Given the description of an element on the screen output the (x, y) to click on. 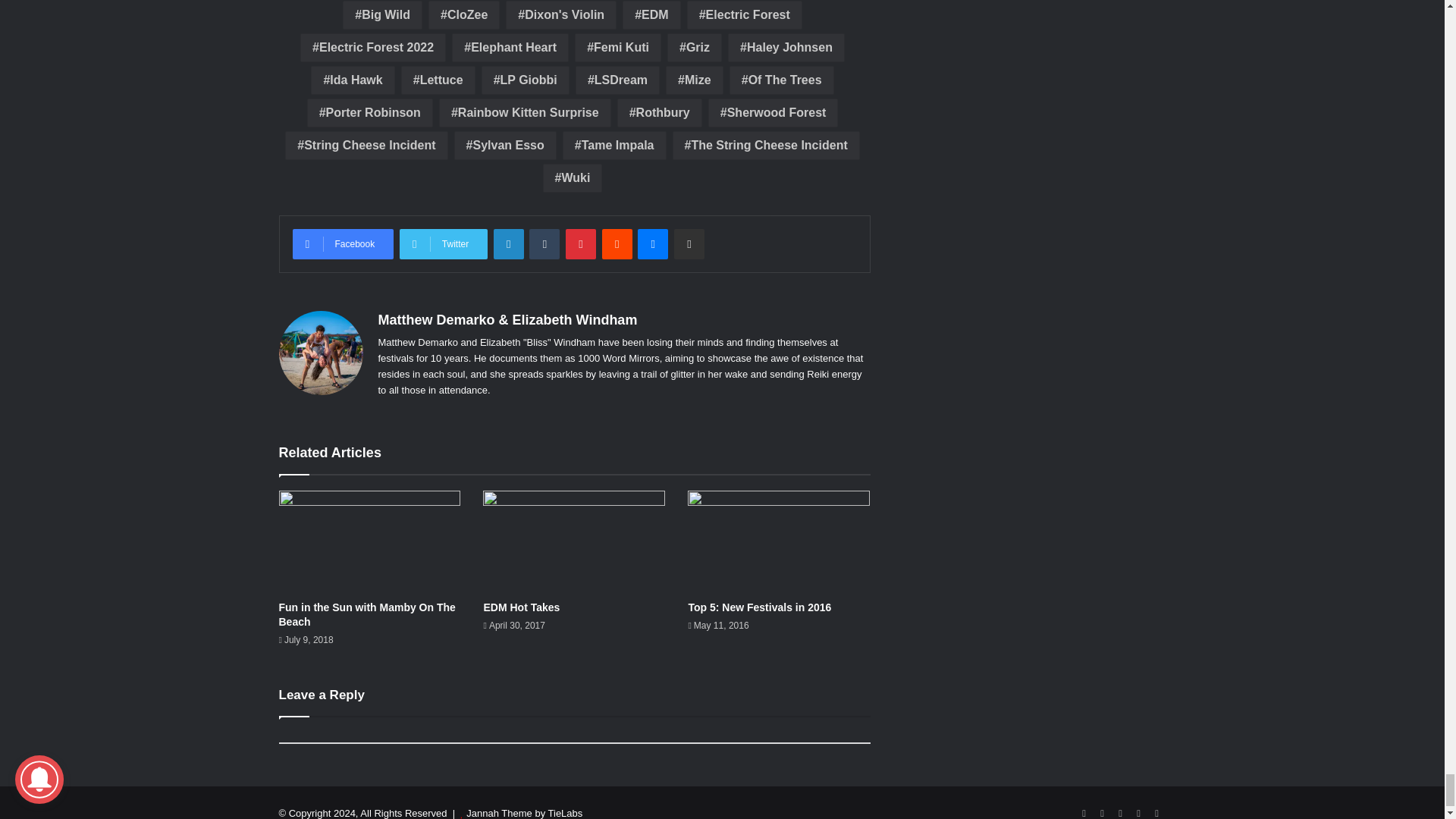
LinkedIn (508, 244)
Twitter (442, 244)
Facebook (343, 244)
Tumblr (544, 244)
Pinterest (580, 244)
Messenger (652, 244)
Reddit (616, 244)
